Given the description of an element on the screen output the (x, y) to click on. 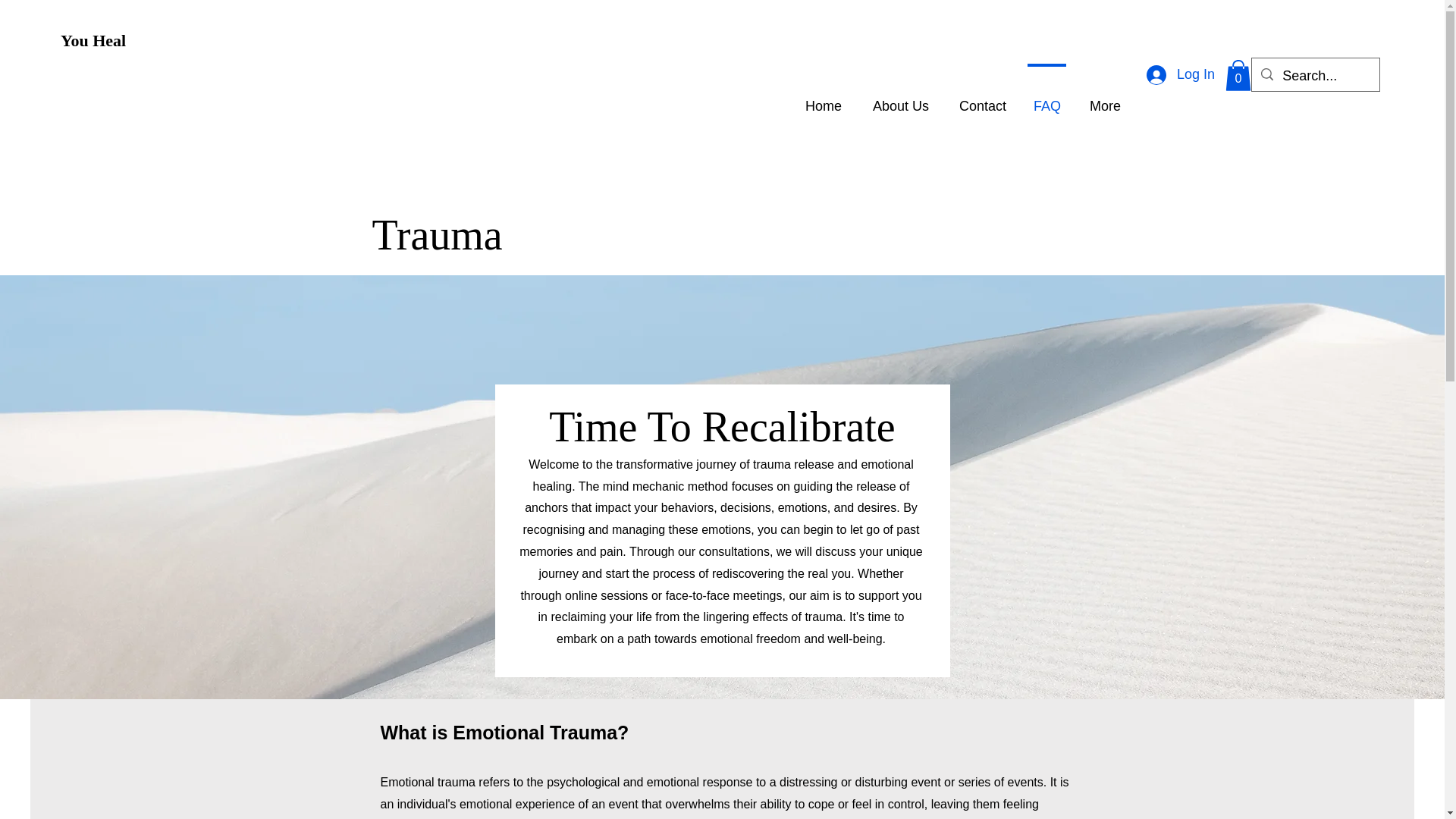
Home (822, 99)
Contact (981, 99)
About Us (899, 99)
Log In (1180, 74)
